Given the description of an element on the screen output the (x, y) to click on. 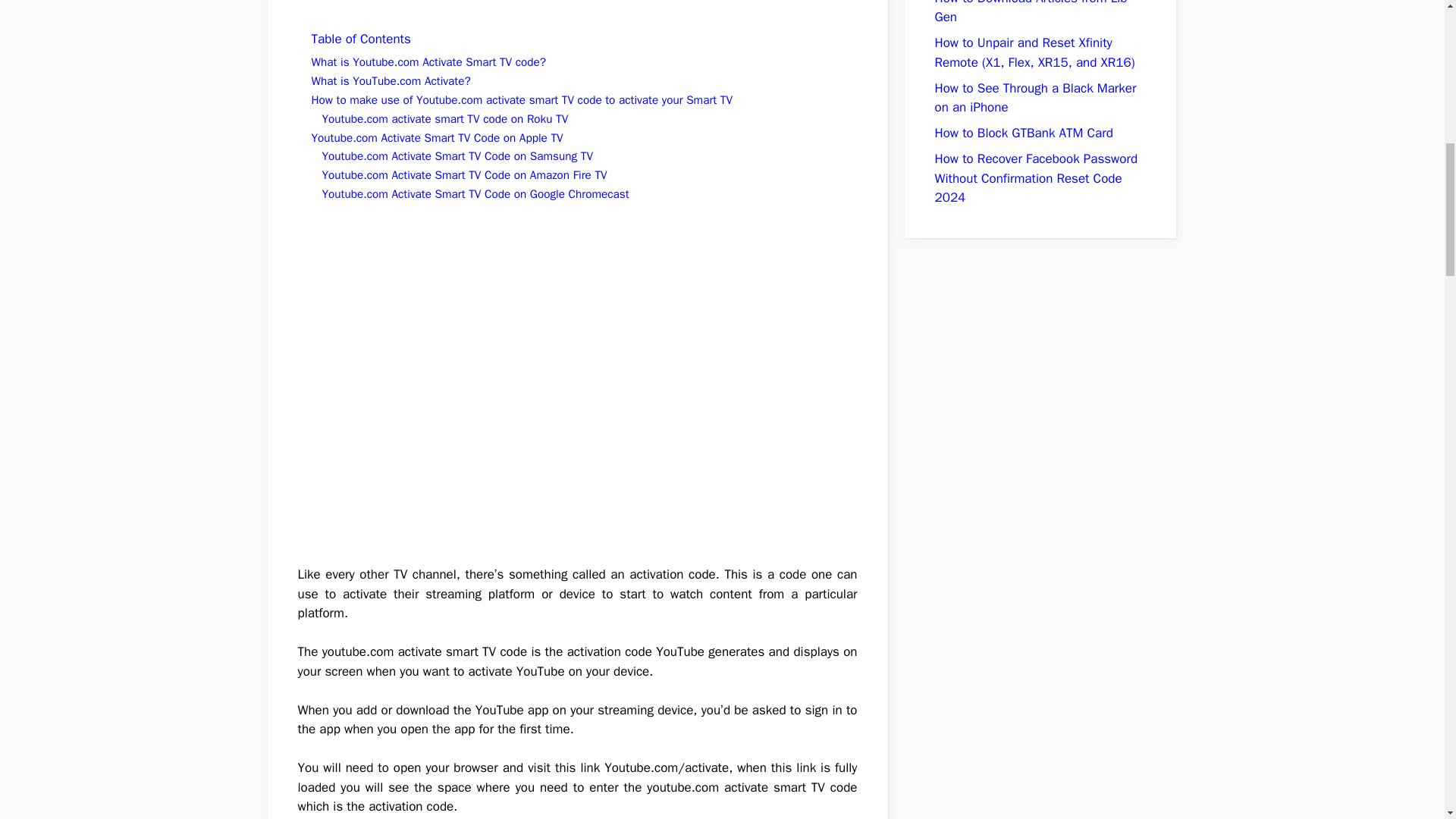
Youtube.com Activate Smart TV Code on Samsung TV (456, 155)
Youtube.com activate smart TV code on Roku TV (444, 118)
Scroll back to top (1406, 720)
Youtube.com Activate Smart TV Code on Amazon Fire TV (464, 174)
Youtube.com Activate Smart TV Code on Apple TV (436, 137)
How to Download Articles from Lib Gen (1030, 12)
Youtube.com Activate Smart TV Code on Google Chromecast (474, 193)
What is YouTube.com Activate? (390, 80)
What is Youtube.com Activate Smart TV code? (428, 61)
